Given the description of an element on the screen output the (x, y) to click on. 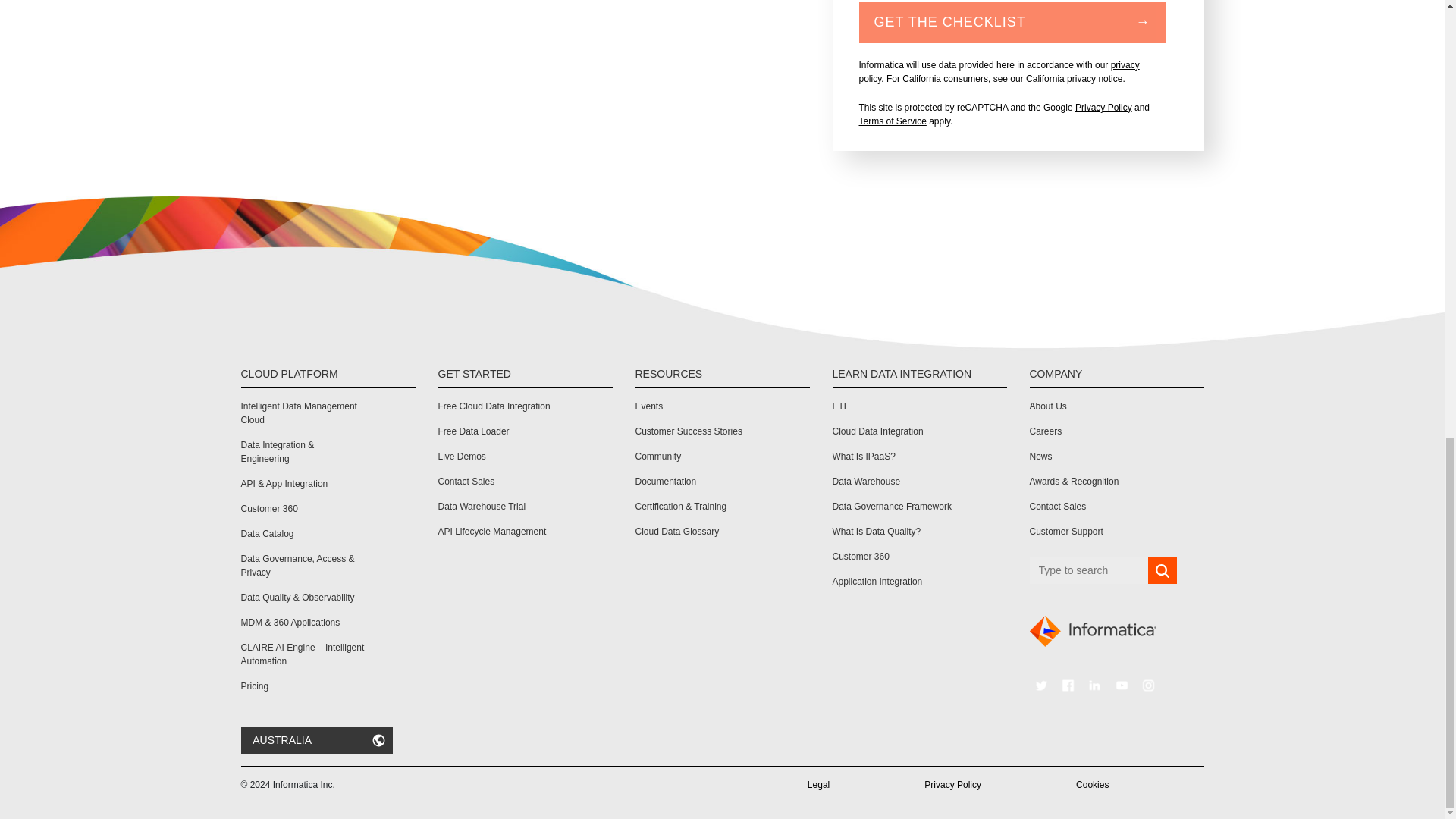
Search (1162, 571)
privacy policy (998, 71)
Insert a query. Press enter to send (1088, 570)
privacy notice (1094, 78)
Privacy Policy (1103, 107)
Terms of Service (892, 121)
